Given the description of an element on the screen output the (x, y) to click on. 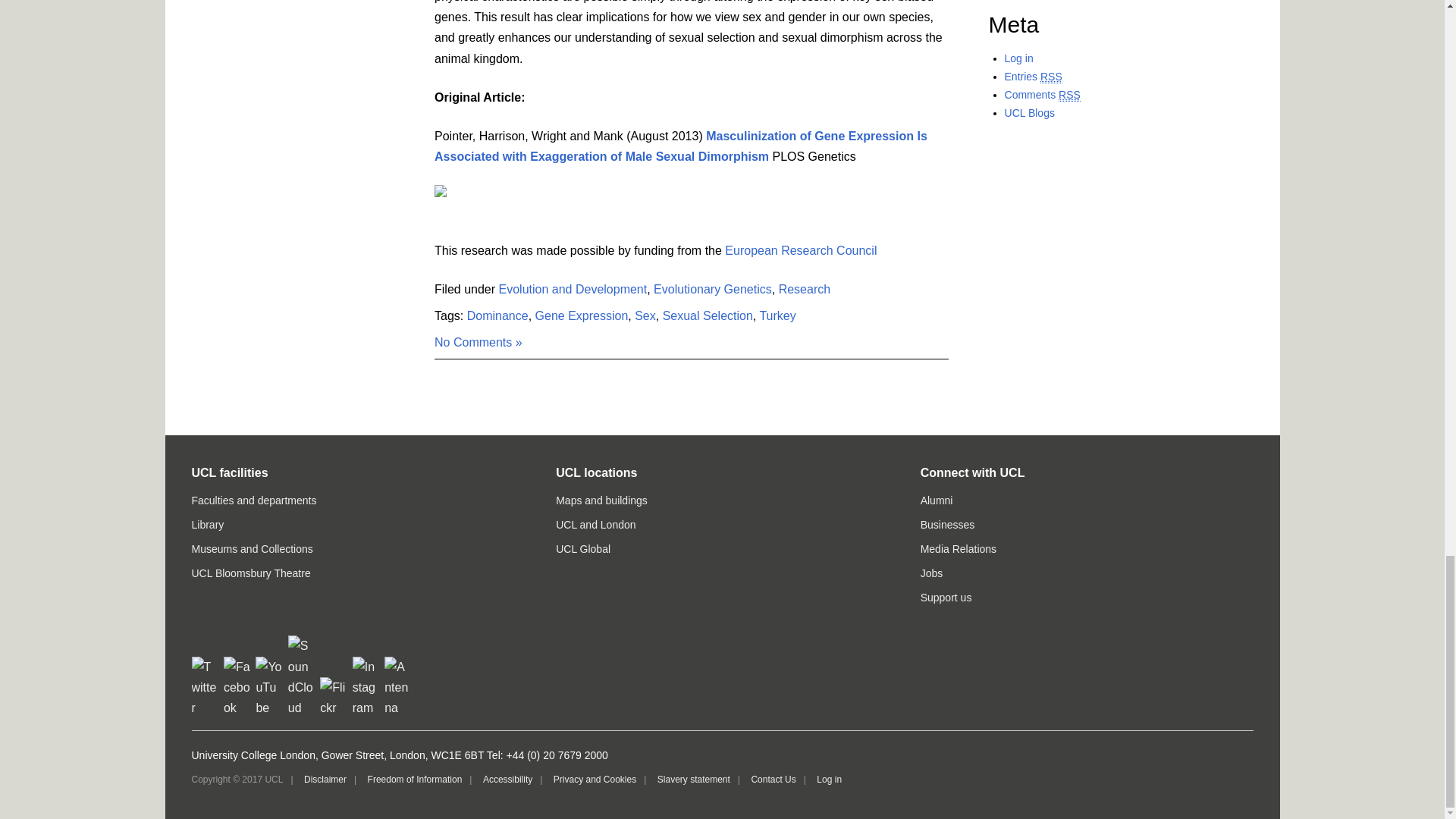
The latest comments to all posts in RSS (1042, 94)
Evolution and Development (573, 288)
Sexual Selection (707, 315)
Dominance (497, 315)
Really Simple Syndication (1051, 76)
Powered by UCL Blogs (1029, 112)
Really Simple Syndication (1069, 94)
Turkey (776, 315)
Gene Expression (581, 315)
Evolutionary Genetics (712, 288)
Sex (645, 315)
European Research Council (800, 250)
Research (803, 288)
Syndicate this site using RSS 2.0 (1033, 76)
